Given the description of an element on the screen output the (x, y) to click on. 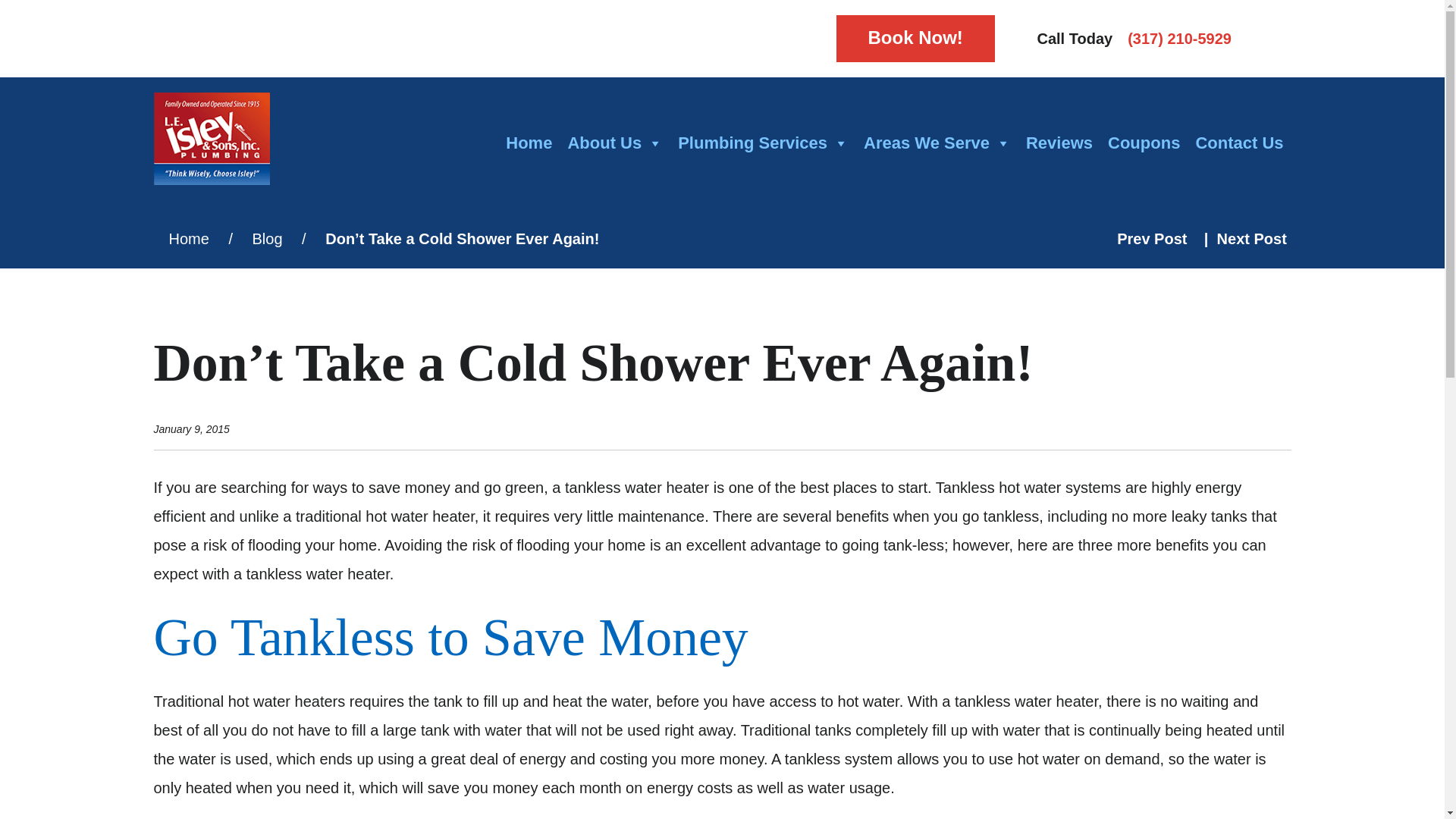
Areas We Serve (936, 142)
Plumbing Services (762, 142)
Book Now! (914, 38)
Home (528, 142)
About Us (614, 142)
